Given the description of an element on the screen output the (x, y) to click on. 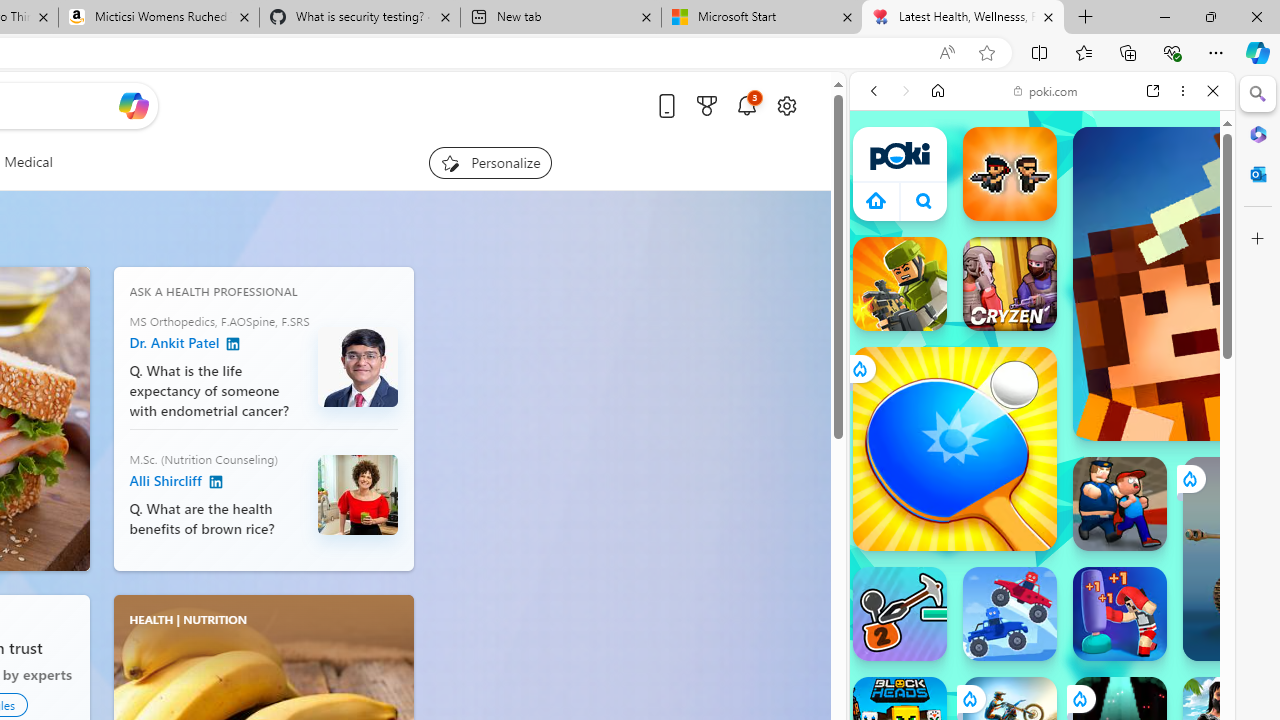
Sports Games (1042, 666)
Class: rCs5cyEiqiTpYvt_VBCR (1079, 698)
Kour.io Kour.io (899, 283)
poki.com (1046, 90)
Io Games (1042, 617)
Stickman Climb 2 Stickman Climb 2 (899, 613)
Two Player Games (1042, 568)
